Given the description of an element on the screen output the (x, y) to click on. 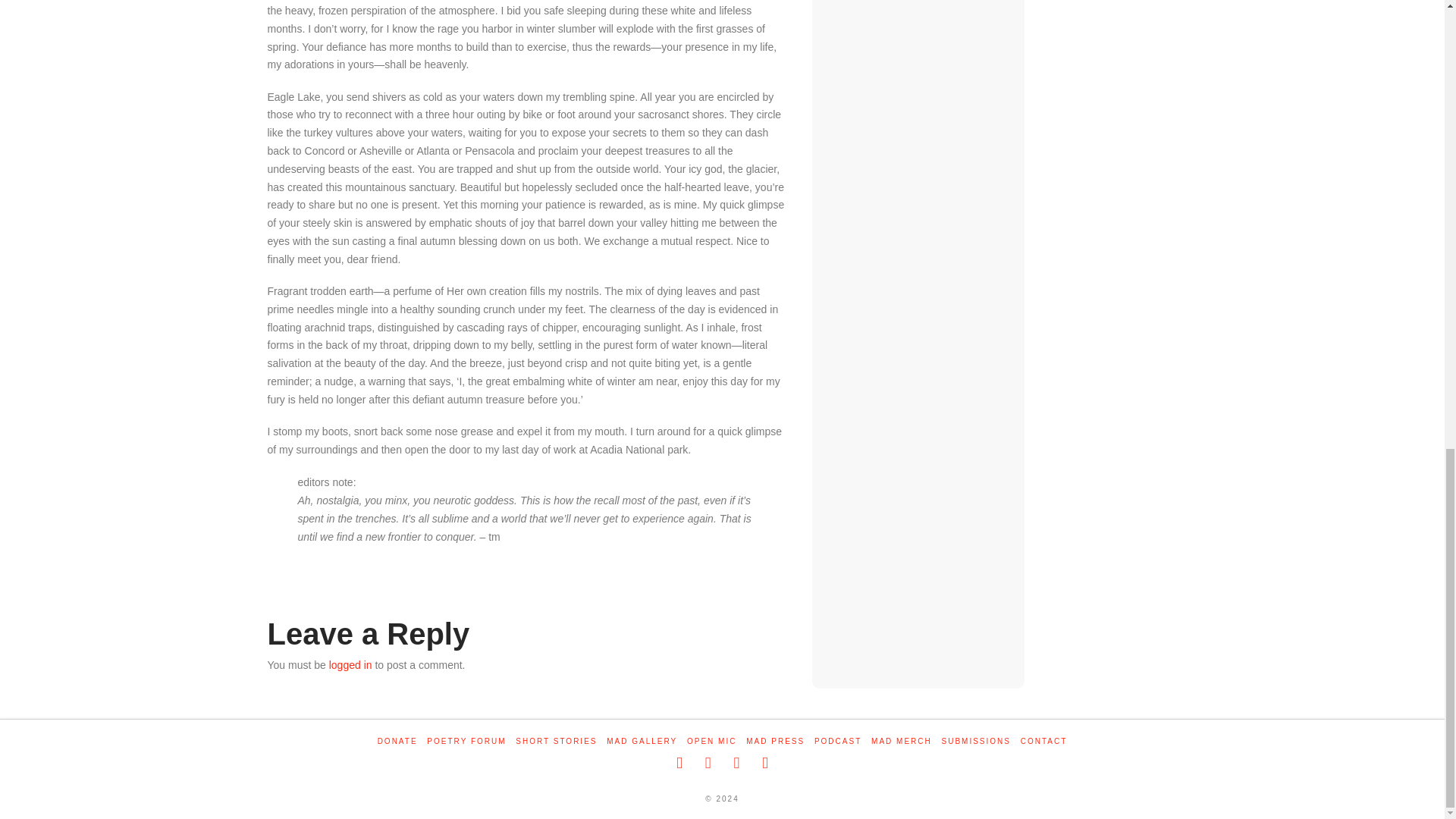
SHORT STORIES (555, 740)
SUBMISSIONS (976, 740)
POETRY FORUM (465, 740)
CONTACT (1043, 740)
OPEN MIC (711, 740)
MAD PRESS (775, 740)
MAD MERCH (900, 740)
DONATE (397, 740)
logged in (350, 664)
MAD GALLERY (642, 740)
PODCAST (837, 740)
